Given the description of an element on the screen output the (x, y) to click on. 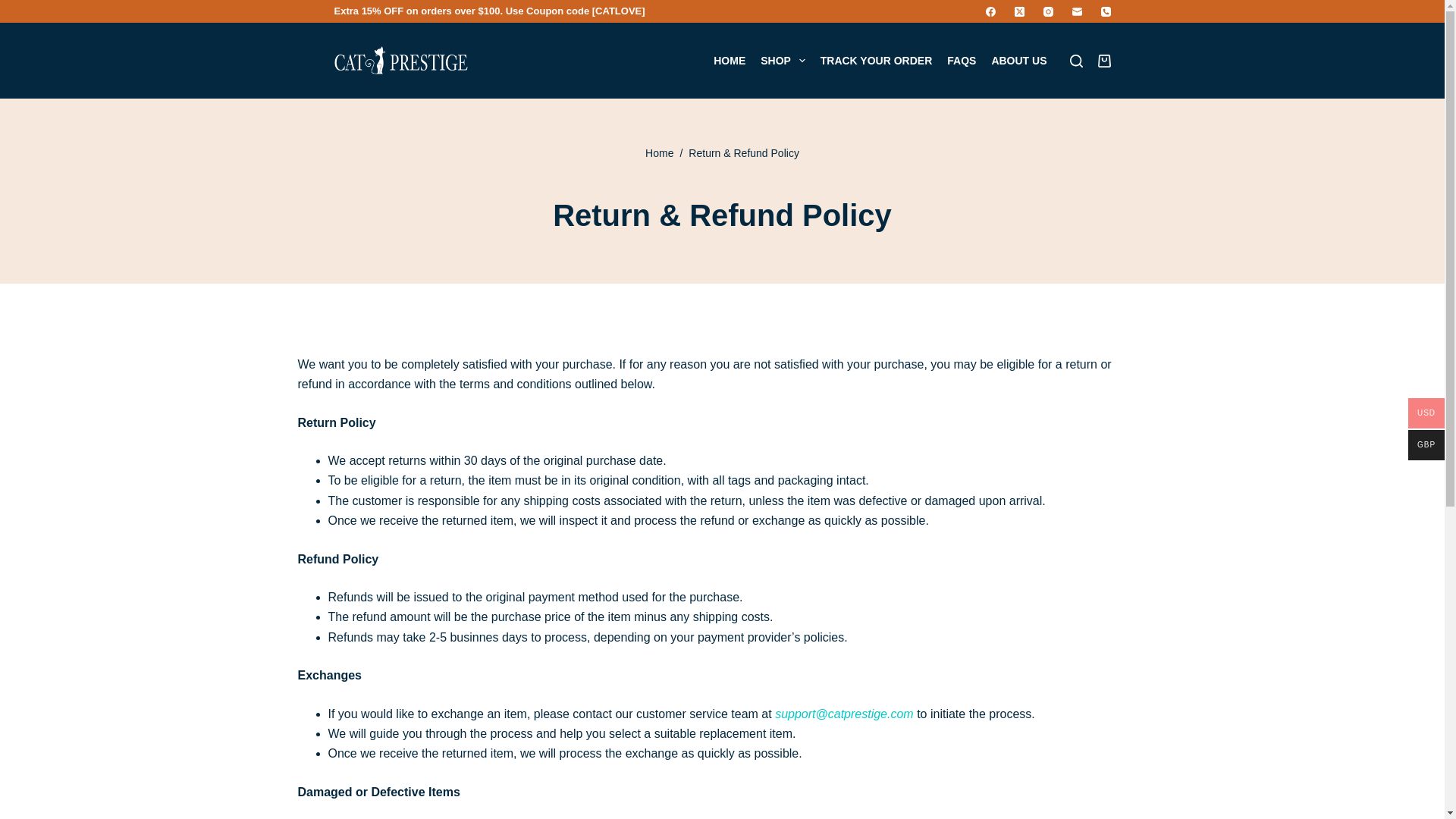
Skip to content (15, 7)
